Given the description of an element on the screen output the (x, y) to click on. 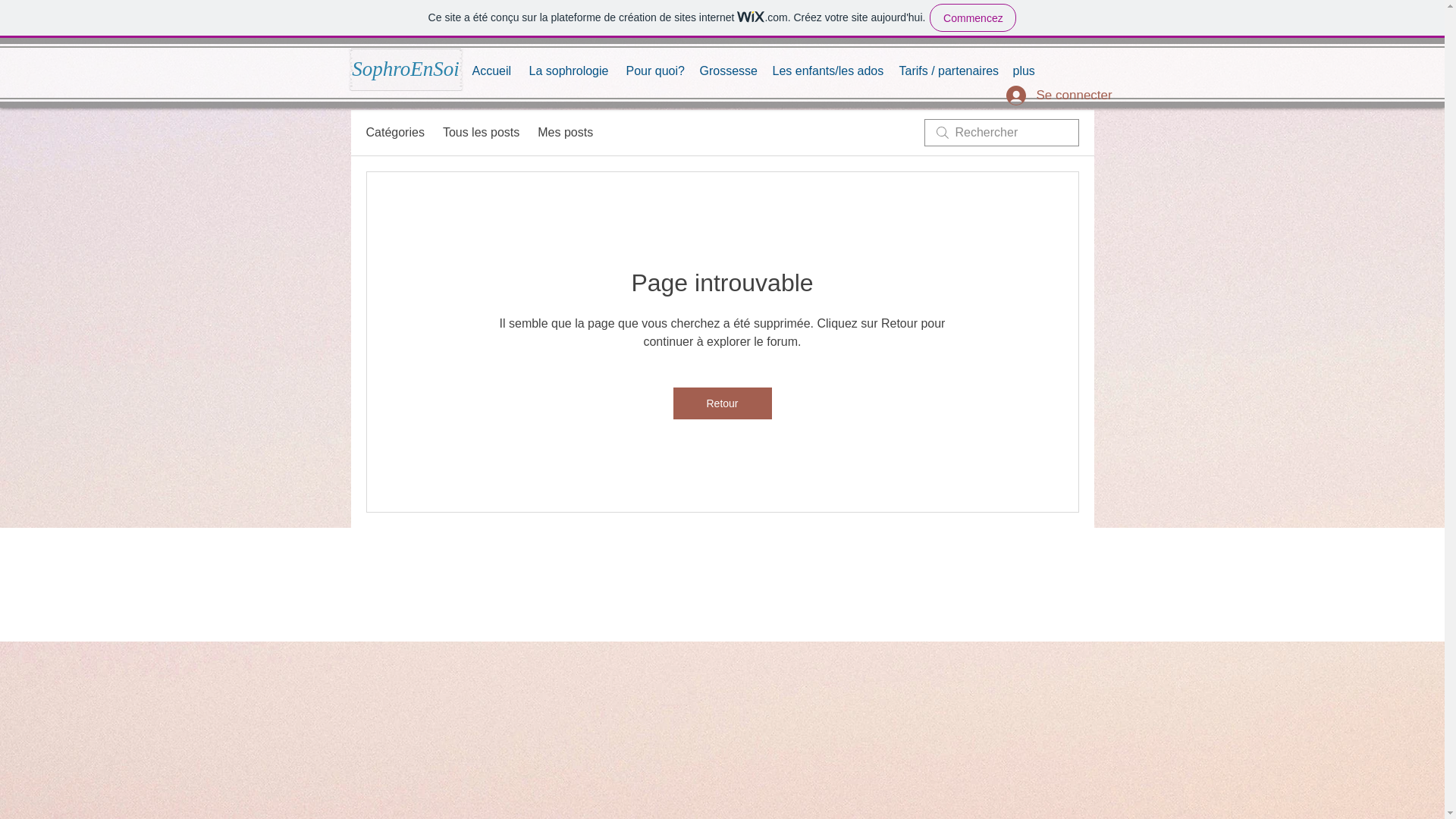
Mes posts (564, 132)
Pour quoi? (655, 70)
SophroEnSoi (405, 69)
Grossesse (727, 70)
Se connecter (1040, 95)
Accueil (492, 70)
Retour (721, 403)
La sophrologie (569, 70)
Tous les posts (480, 132)
